Given the description of an element on the screen output the (x, y) to click on. 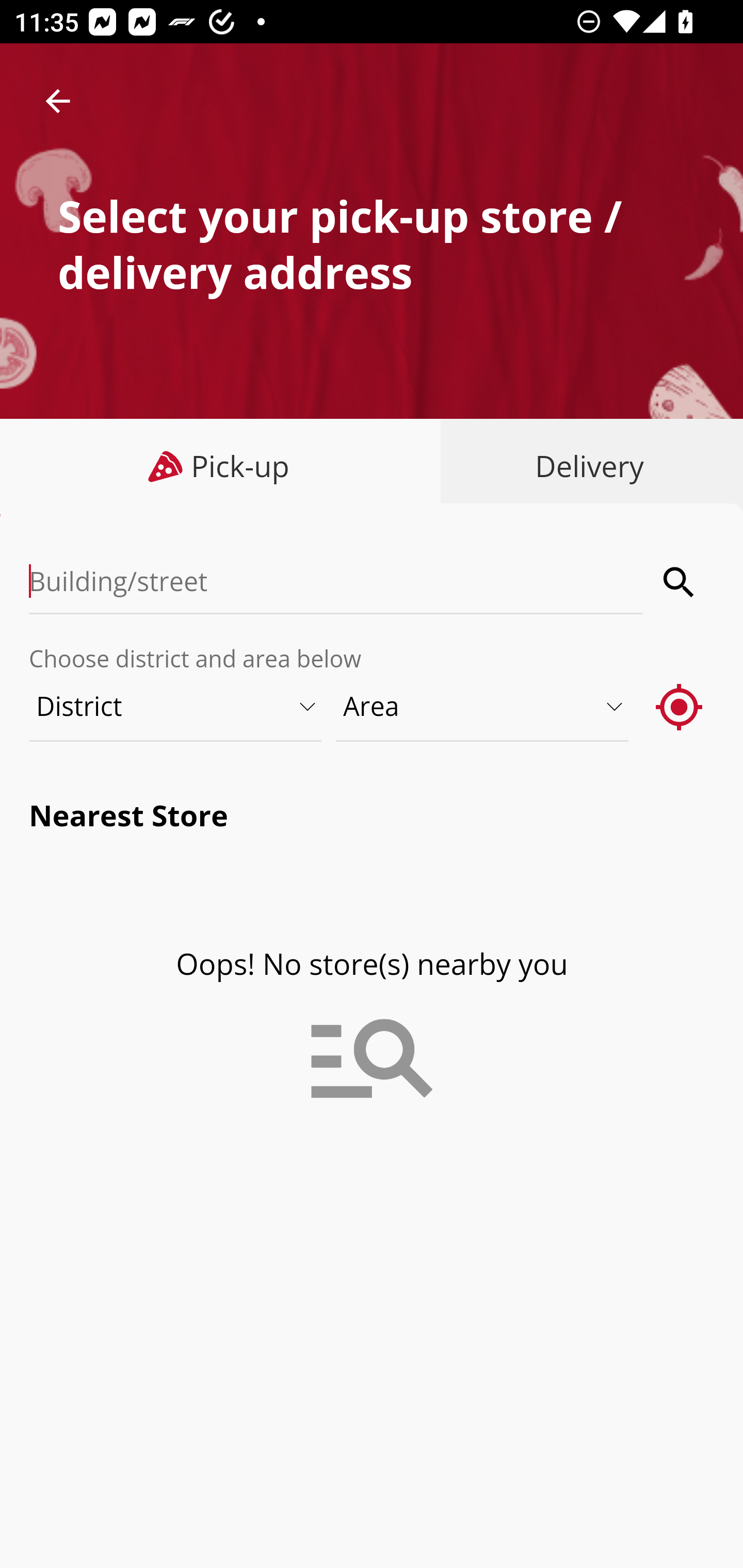
arrow_back (58, 100)
prev next Pick-up Delivery (371, 467)
Delivery (585, 466)
search (679, 582)
gps_fixed (679, 706)
District (175, 706)
Area (482, 706)
